Given the description of an element on the screen output the (x, y) to click on. 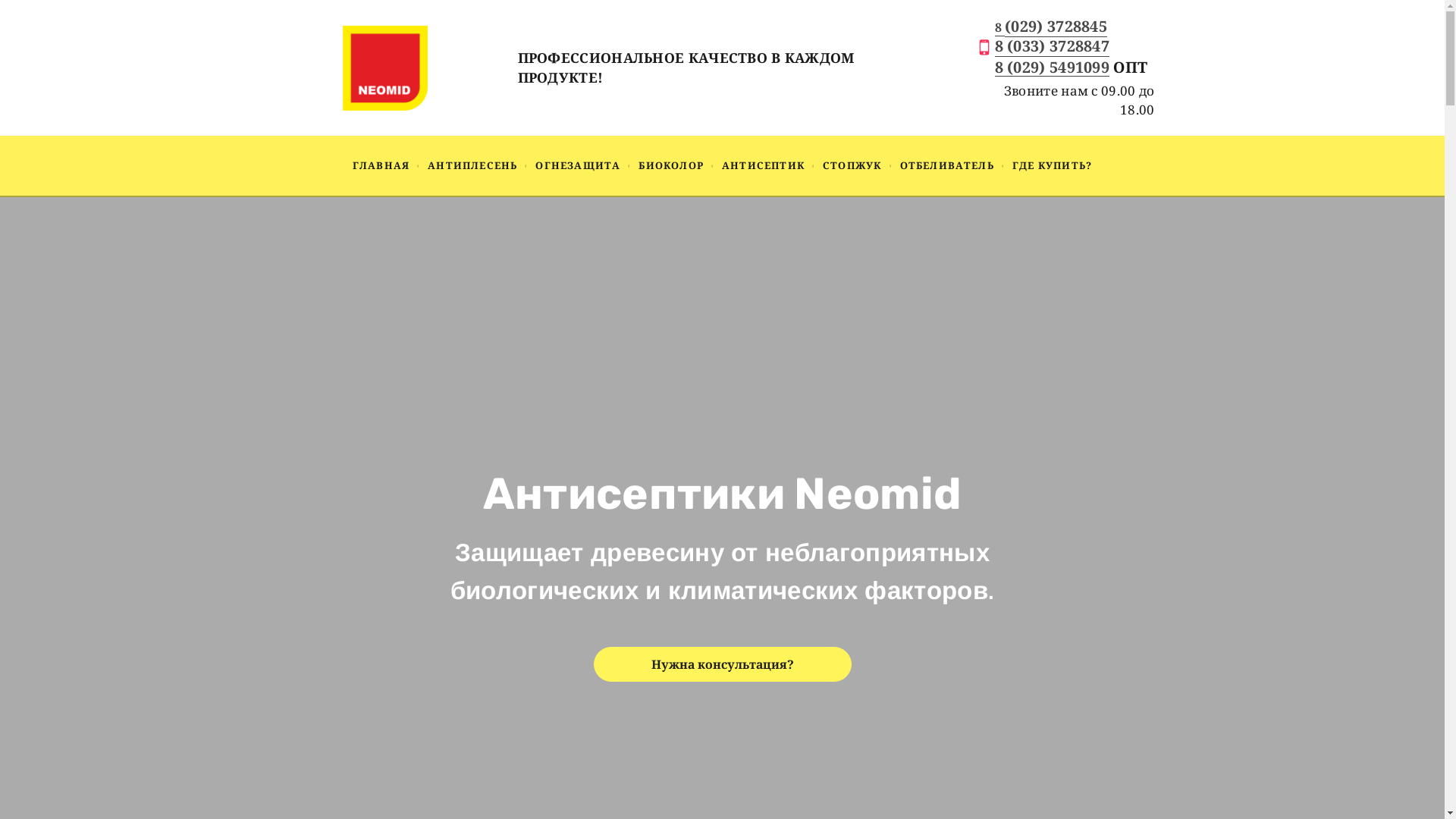
8 (029) 5491099 Element type: text (1052, 68)
8 Element type: text (999, 27)
(029) 3728845 Element type: text (1055, 26)
8 (033) 3728847 Element type: text (1052, 45)
